Given the description of an element on the screen output the (x, y) to click on. 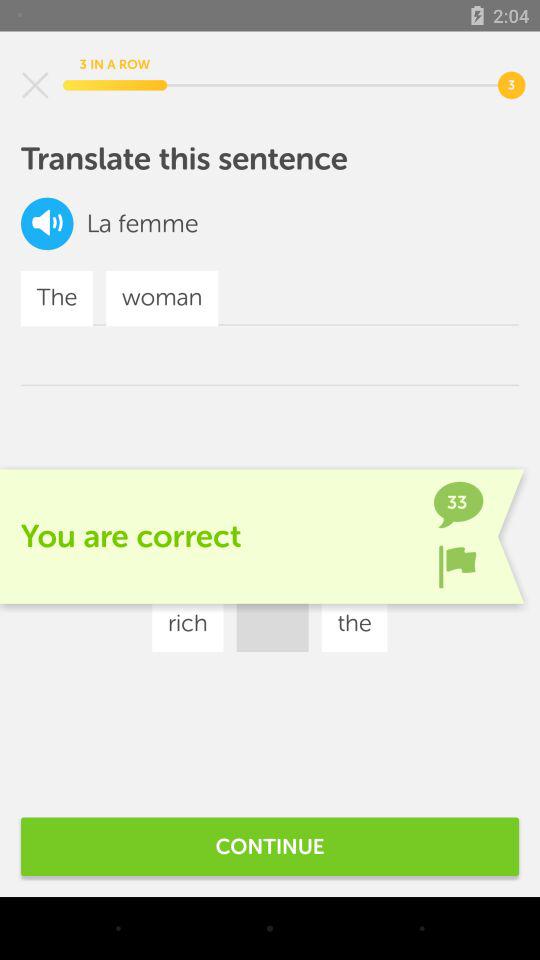
choose the am item (375, 563)
